Given the description of an element on the screen output the (x, y) to click on. 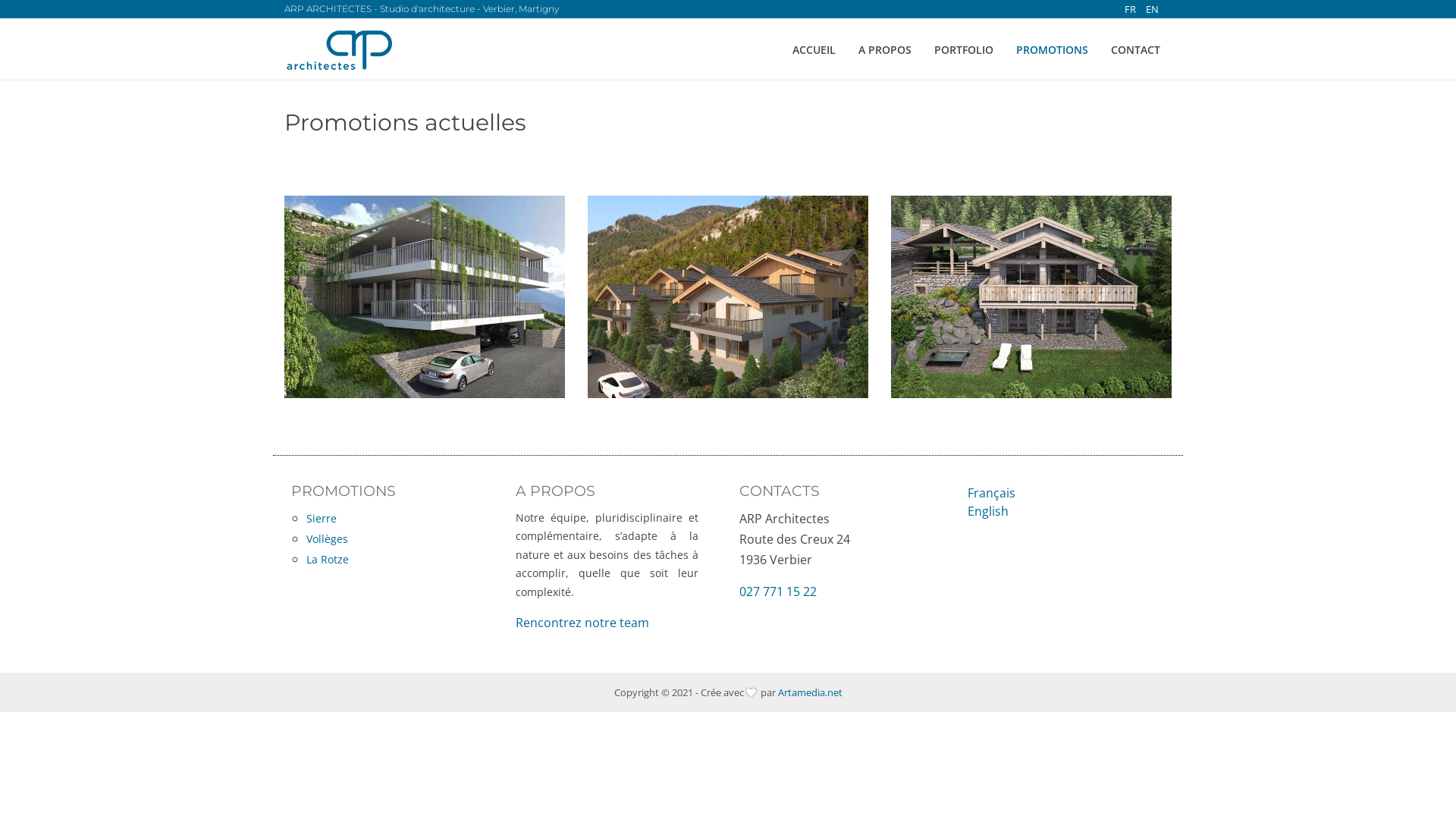
Artamedia.net Element type: text (810, 692)
ACCUEIL Element type: text (814, 48)
La Rotze Element type: text (399, 558)
CONTACT Element type: text (1135, 48)
Rencontrez notre team Element type: text (582, 622)
PORTFOLIO Element type: text (963, 48)
PROMOTIONS Element type: text (1051, 48)
A PROPOS Element type: text (884, 48)
ARP Architectes Element type: hover (339, 50)
EN Element type: text (1151, 8)
Sierre Element type: text (399, 517)
English Element type: text (987, 510)
027 771 15 22 Element type: text (777, 591)
La Rotze Element type: hover (1031, 296)
FR Element type: text (1131, 8)
